Given the description of an element on the screen output the (x, y) to click on. 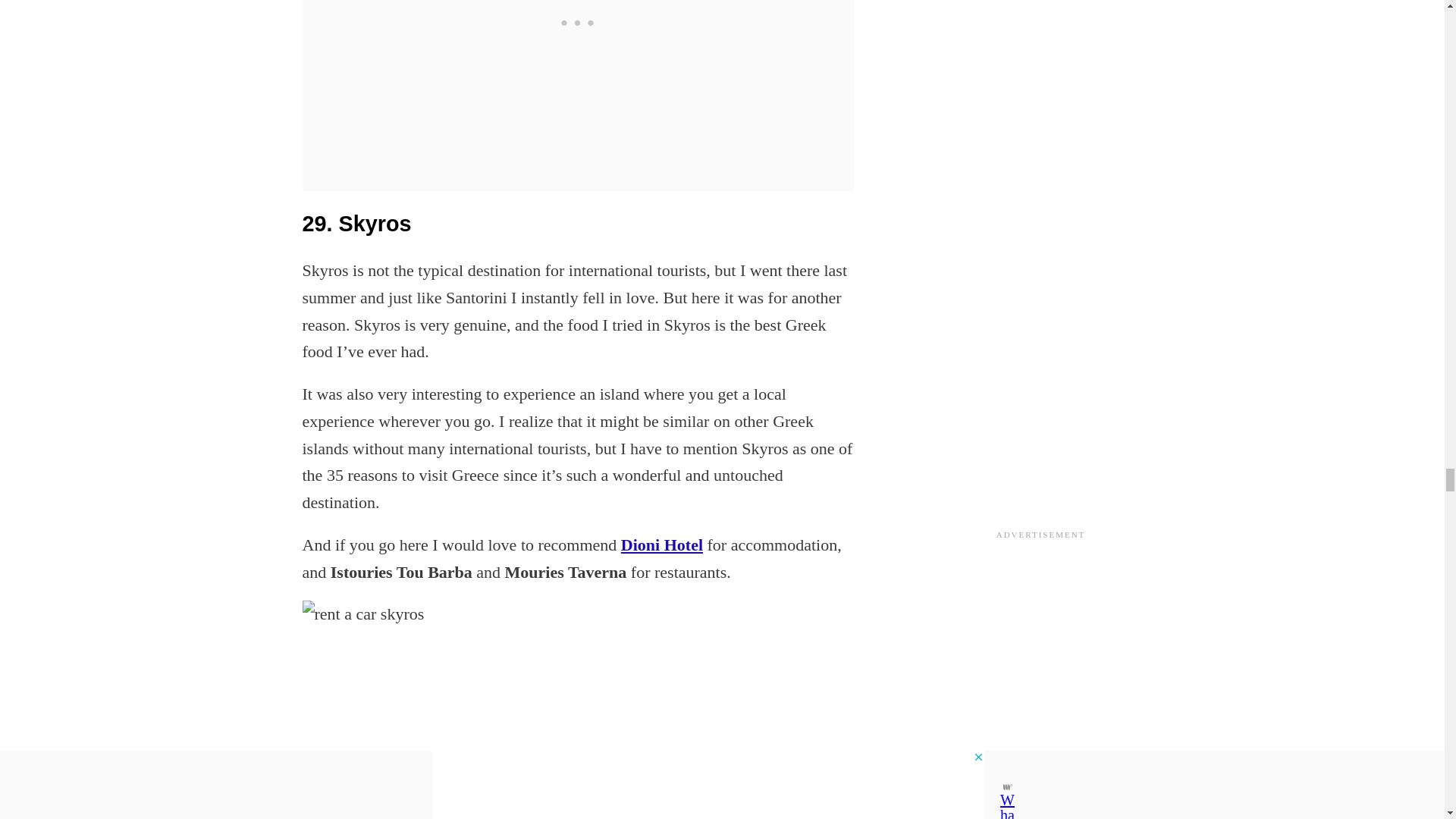
Dioni Hotel SKyros (662, 544)
